Given the description of an element on the screen output the (x, y) to click on. 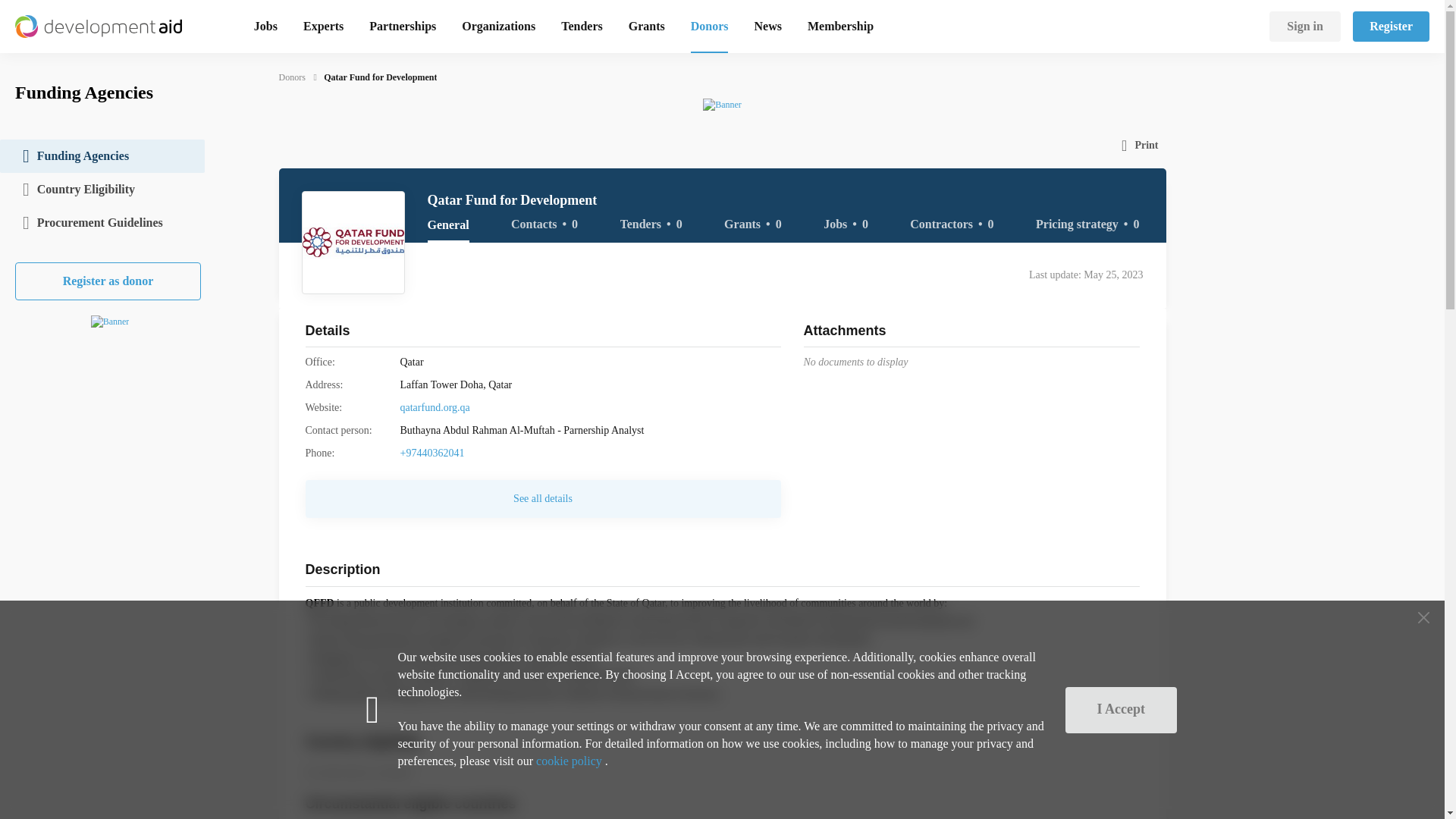
Register (1390, 26)
Donors (709, 26)
Organizations (498, 26)
Experts (322, 26)
News (767, 26)
Funding Agencies (102, 155)
Procurement Guidelines (102, 222)
qatarfund.org.qa (435, 407)
Register as donor (108, 280)
Membership (840, 26)
Jobs (265, 26)
Country Eligibility (102, 189)
Tenders (581, 26)
Sign in (1304, 26)
Grants (646, 26)
